Given the description of an element on the screen output the (x, y) to click on. 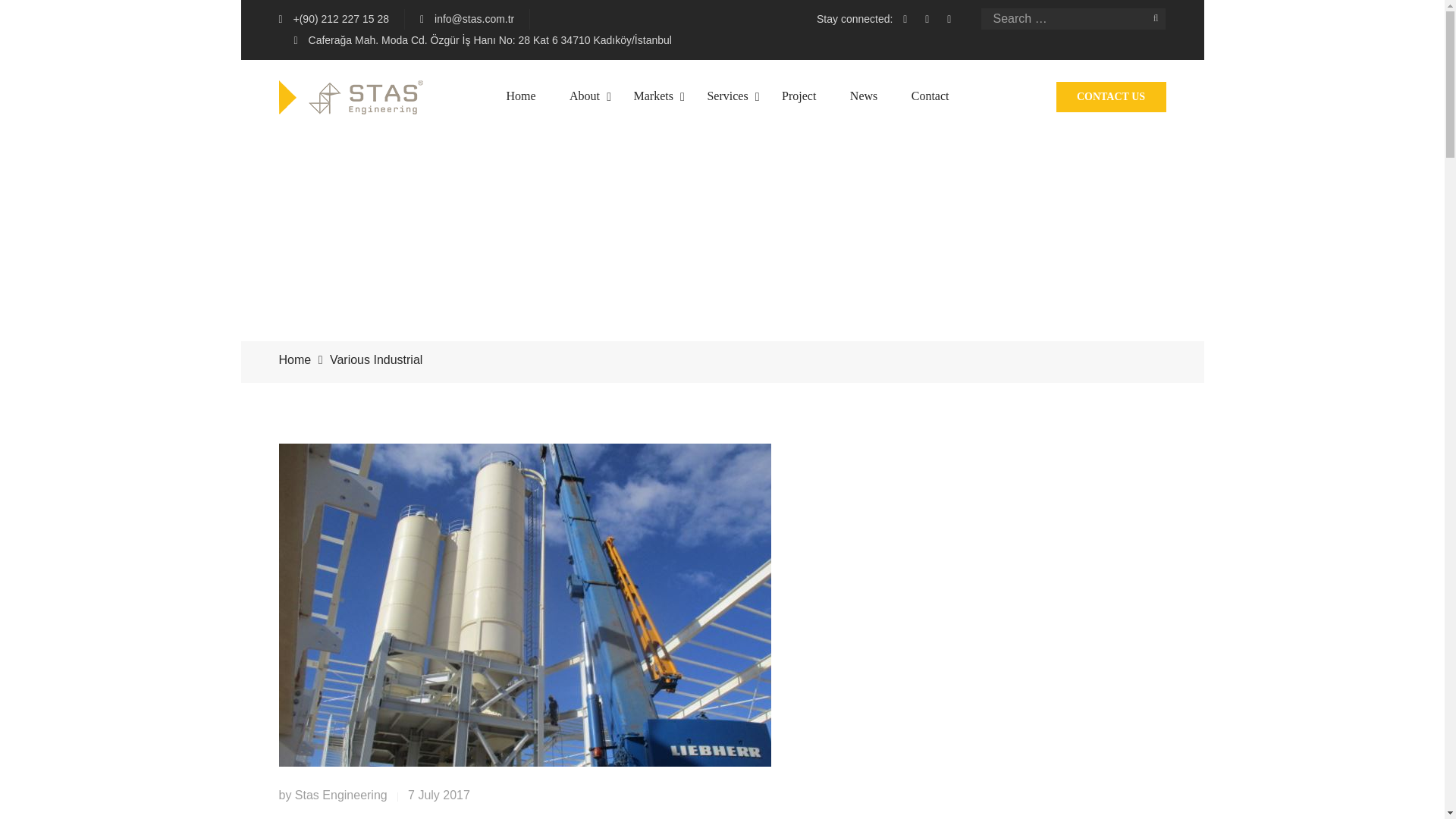
Home (520, 95)
What We Do (698, 204)
Electrical Engineering (856, 247)
About (584, 95)
Process Engineering (852, 332)
Structural Engineering (857, 204)
Contact (930, 95)
Search (1155, 18)
Stas Engineering (341, 794)
Markets (652, 95)
